Given the description of an element on the screen output the (x, y) to click on. 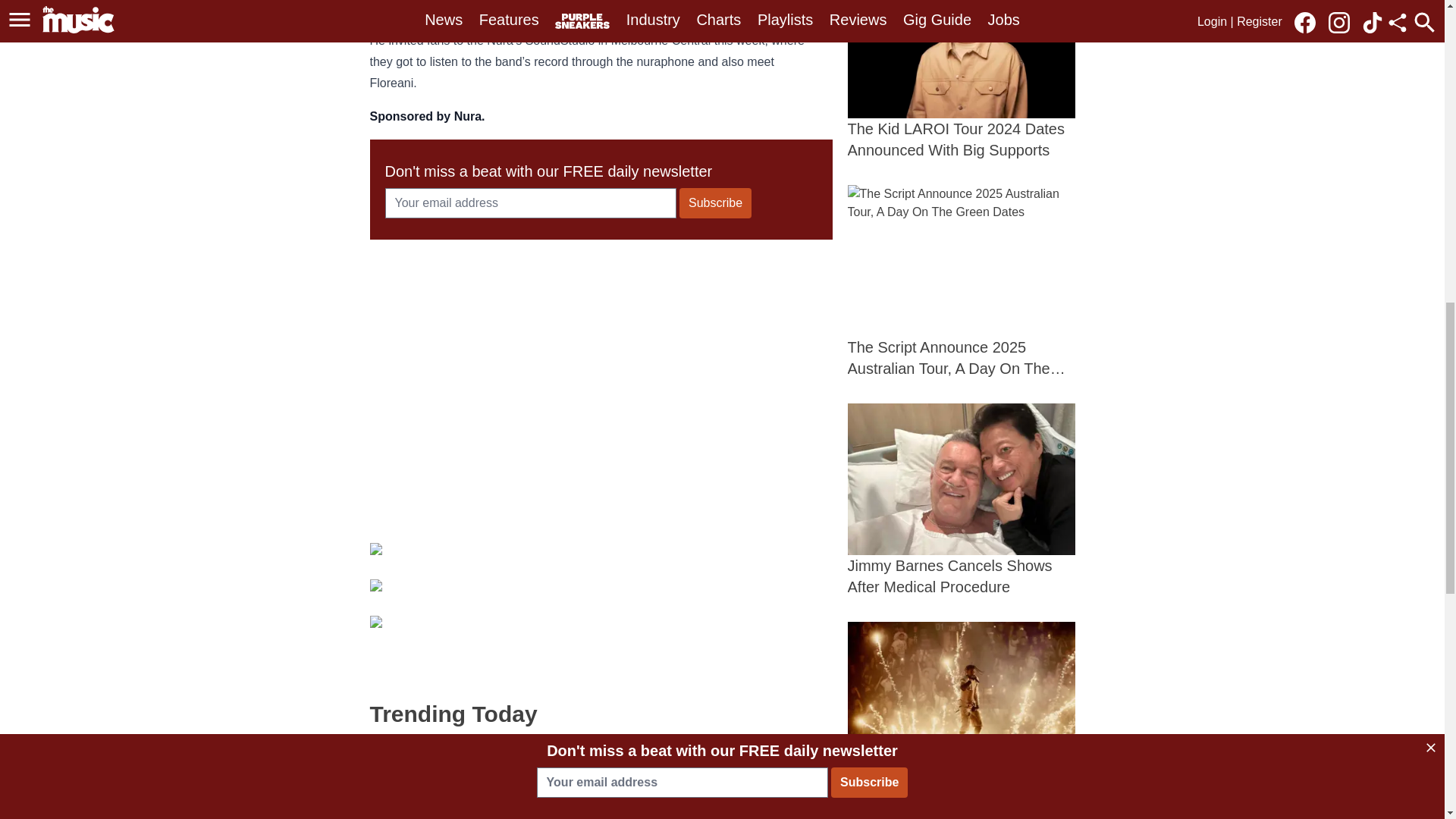
Jimmy Barnes Cancels Shows After Medical Procedure (600, 780)
The Kid LAROI Tour 2024 Dates Announced With Big Supports (961, 500)
Travis Scott 'Circus Maximus' Setlist Revealed (961, 80)
Subscribe (961, 718)
